Given the description of an element on the screen output the (x, y) to click on. 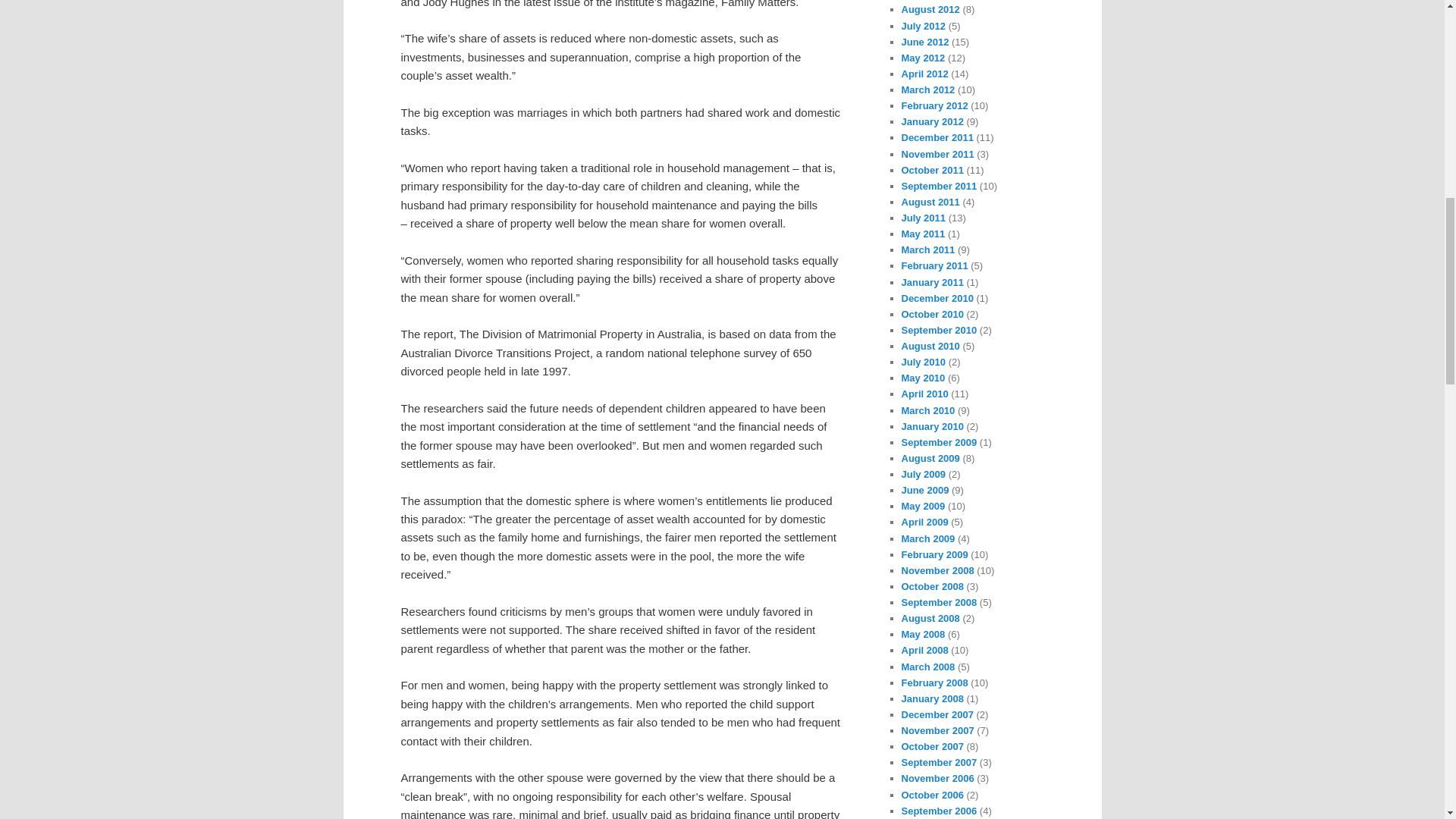
April 2012 (924, 73)
September 2011 (938, 185)
January 2012 (931, 121)
July 2011 (922, 217)
March 2011 (928, 249)
February 2012 (934, 105)
December 2011 (936, 137)
May 2011 (922, 233)
February 2011 (934, 265)
November 2011 (937, 153)
August 2011 (930, 202)
August 2012 (930, 9)
January 2011 (931, 282)
March 2012 (928, 89)
July 2012 (922, 25)
